Given the description of an element on the screen output the (x, y) to click on. 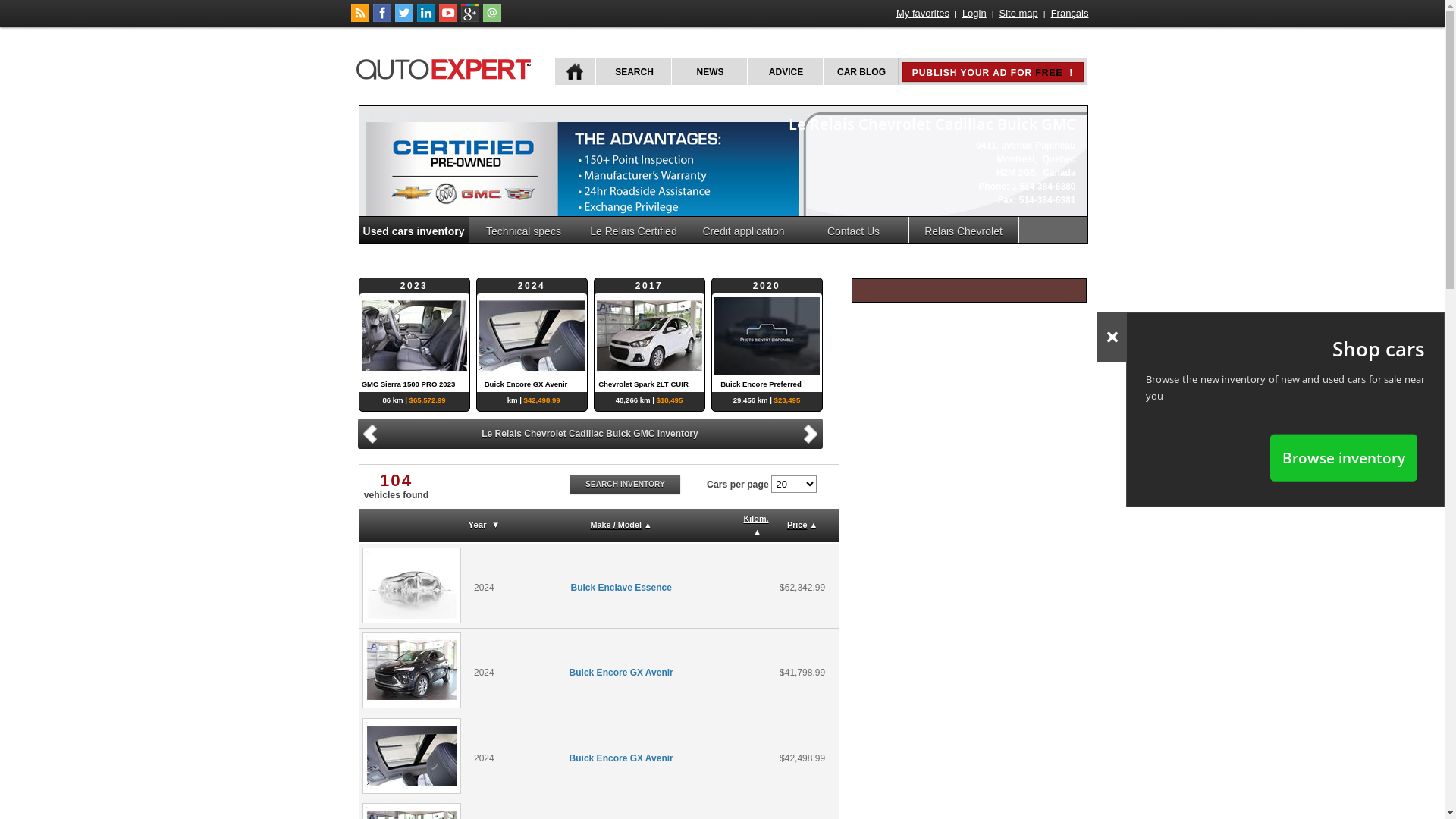
Buick Encore GX Avenir Element type: text (621, 758)
2024
Buick Encore GX Avenir 2024
  km | $42,498.99 Element type: text (649, 335)
Previous Element type: hover (368, 433)
Follow Publications Le Guide Inc. on LinkedIn Element type: hover (426, 18)
Follow autoExpert.ca on Youtube Element type: hover (447, 18)
Follow car news on autoExpert.ca Element type: hover (359, 18)
Next Element type: hover (812, 432)
My favorites Element type: text (922, 13)
Technical specs Element type: text (523, 229)
Price Element type: text (797, 524)
Site map Element type: text (1018, 13)
CAR BLOG Element type: text (859, 71)
SEARCH Element type: text (632, 71)
SEARCH INVENTORY Element type: text (625, 483)
2024
GMC Sierra 1500 4RM CAB MLT 157PO 2024
  km | $79,434 Element type: text (414, 335)
PUBLISH YOUR AD FOR FREE  ! Element type: text (992, 71)
Contact autoExpert.ca Element type: hover (491, 18)
HOME Element type: text (575, 71)
Used cars inventory Element type: text (414, 229)
Relais Chevrolet Element type: text (963, 229)
2024 Buick Encore GX Avenir for sale Element type: hover (411, 670)
Follow autoExpert.ca on Twitter Element type: hover (403, 18)
Kilom. Element type: text (755, 518)
Buick Enclave Essence Element type: text (620, 587)
Contact Us Element type: text (854, 229)
Follow autoExpert.ca on Facebook Element type: hover (382, 18)
Login Element type: text (974, 13)
2024 Buick Encore GX Avenir for sale Element type: hover (411, 755)
ADVICE Element type: text (784, 71)
Le Relais Certified Element type: text (634, 229)
Buick Encore GX Avenir Element type: text (621, 672)
Browse inventory Element type: text (1343, 457)
Follow autoExpert.ca on Google Plus Element type: hover (470, 18)
Credit application Element type: text (743, 229)
autoExpert.ca Element type: text (446, 66)
2023
GMC Sierra 1500 PRO 2023
86 km | $65,572.99 Element type: text (531, 335)
NEWS Element type: text (708, 71)
2024 Buick Enclave Essence for sale Element type: hover (411, 585)
Make / Model Element type: text (615, 524)
